Given the description of an element on the screen output the (x, y) to click on. 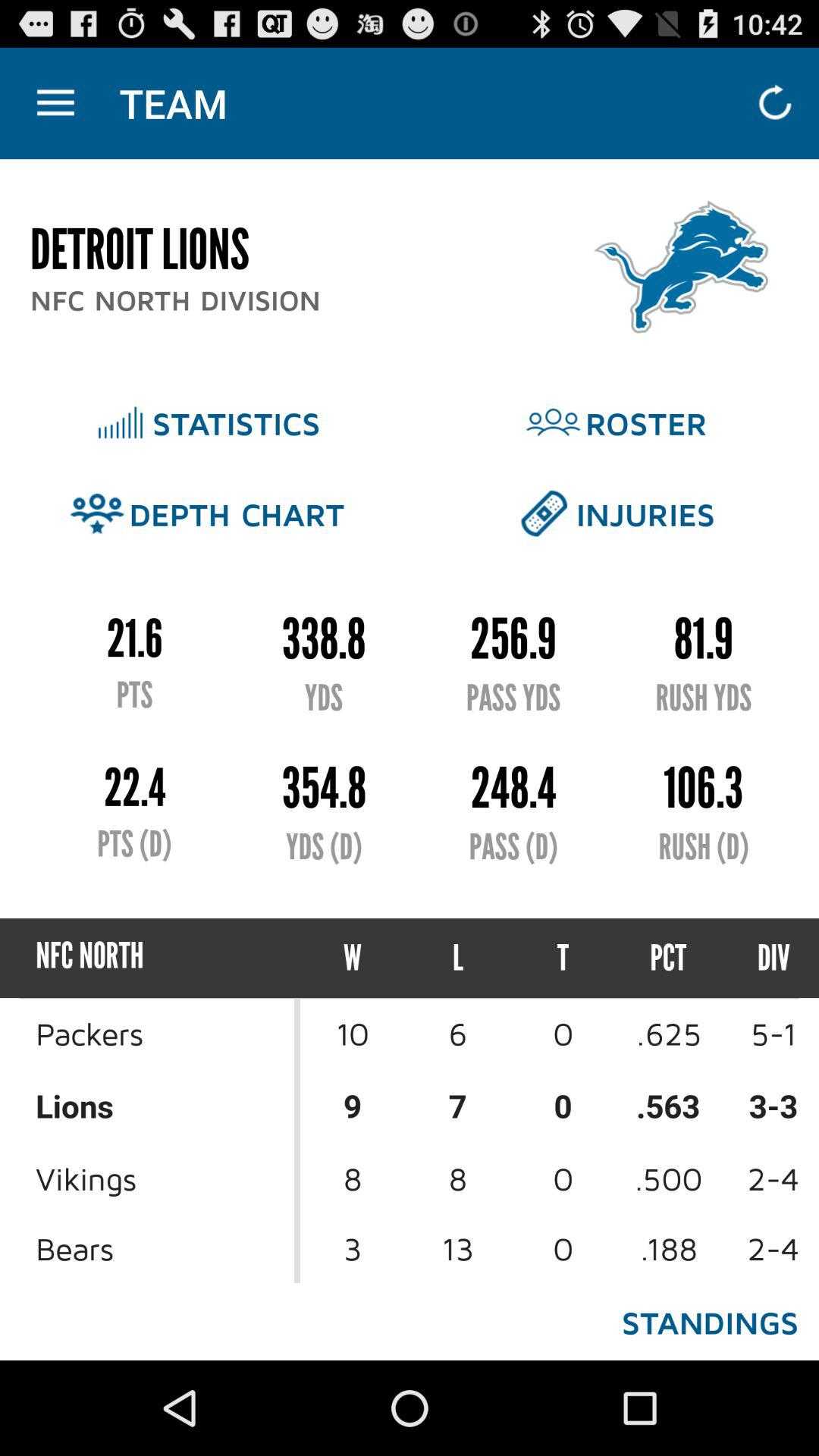
press item to the left of pct item (562, 958)
